Given the description of an element on the screen output the (x, y) to click on. 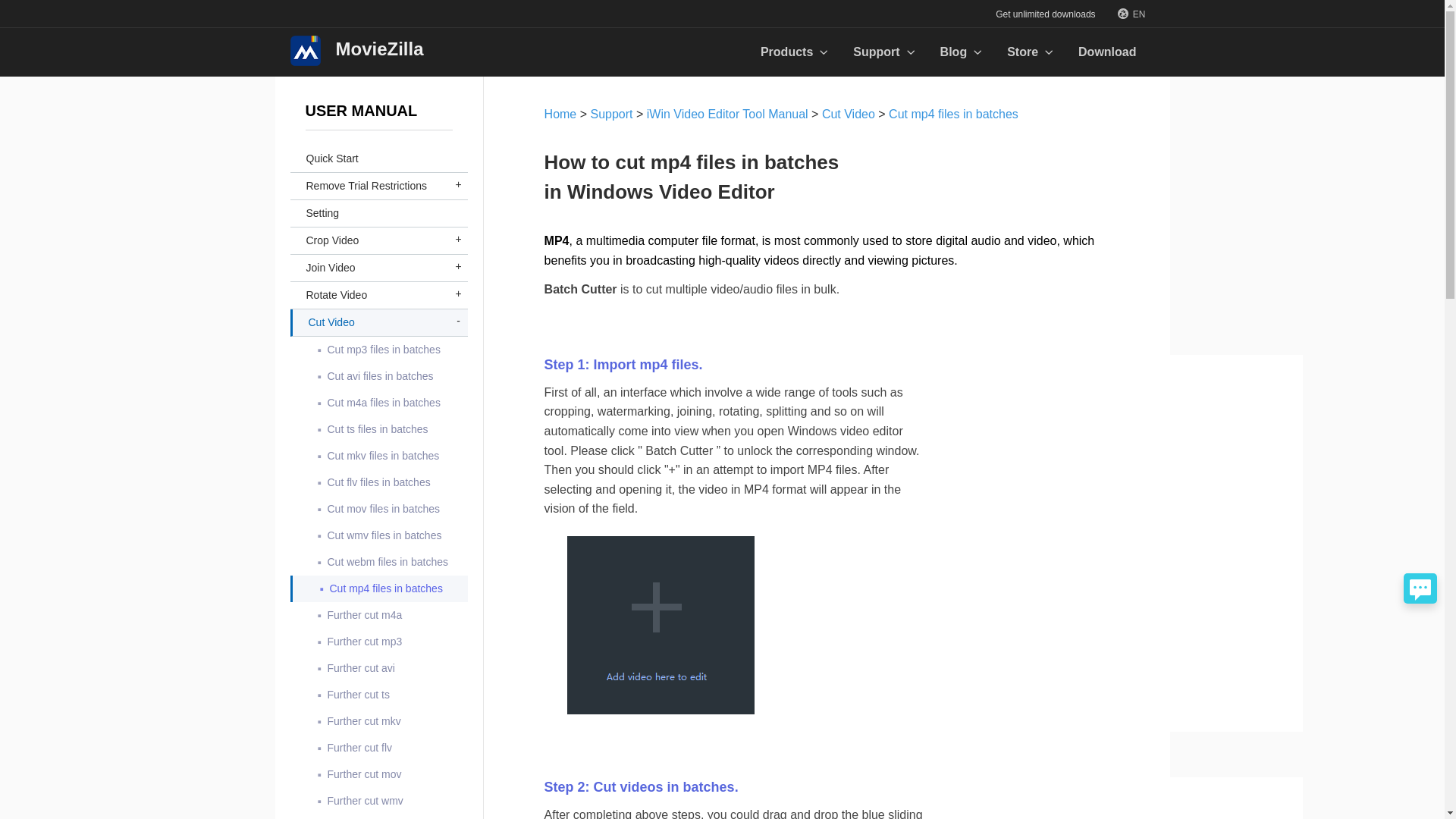
Products (794, 51)
MovieZilla (356, 49)
Get unlimited downloads (1045, 14)
EN (1131, 14)
